Given the description of an element on the screen output the (x, y) to click on. 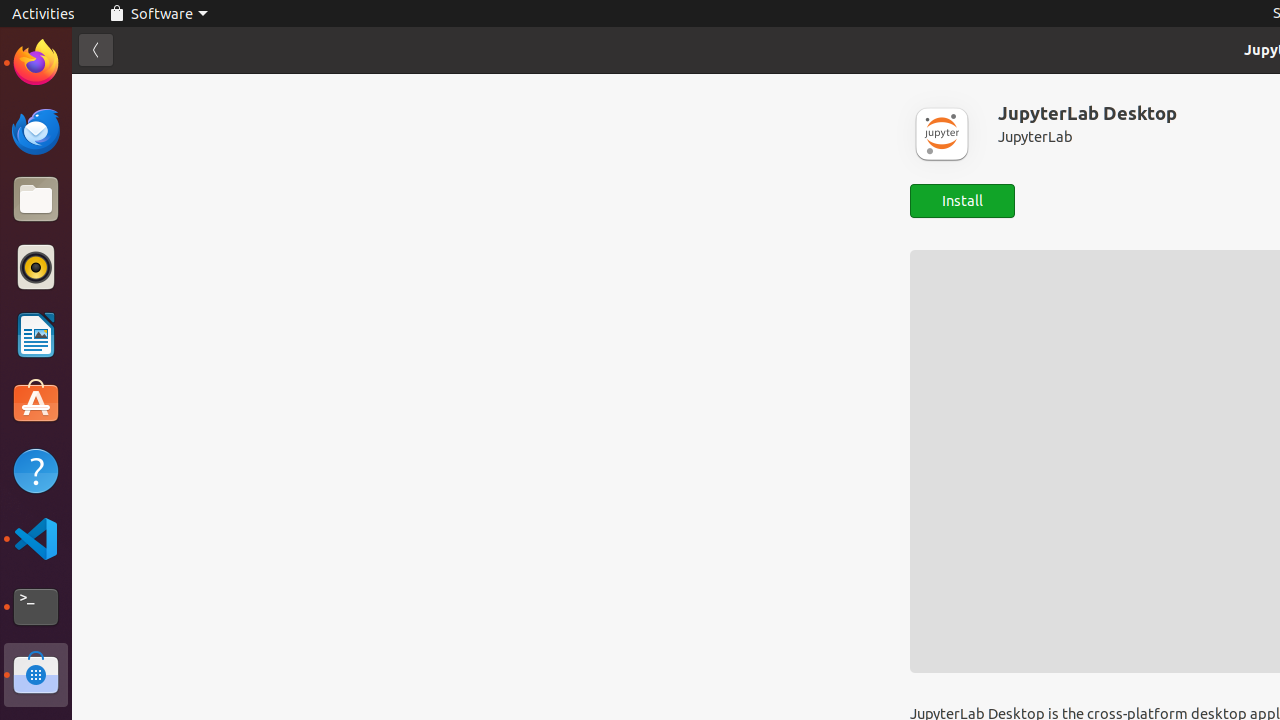
Firefox Web Browser Element type: push-button (36, 63)
li.txt Element type: label (259, 89)
Trash Element type: label (133, 191)
Activities Element type: label (43, 13)
